Given the description of an element on the screen output the (x, y) to click on. 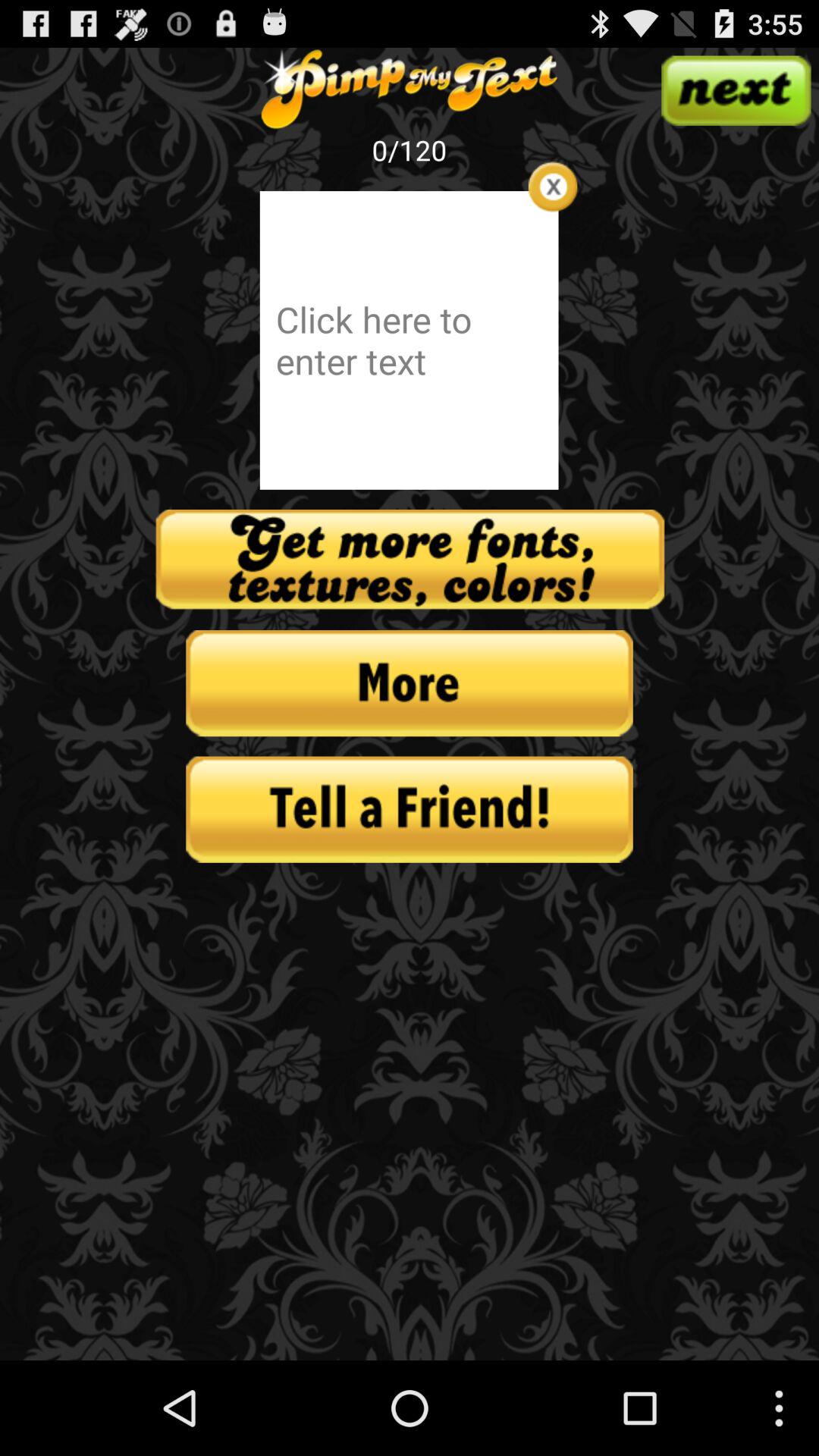
go to textures colors (409, 559)
